Given the description of an element on the screen output the (x, y) to click on. 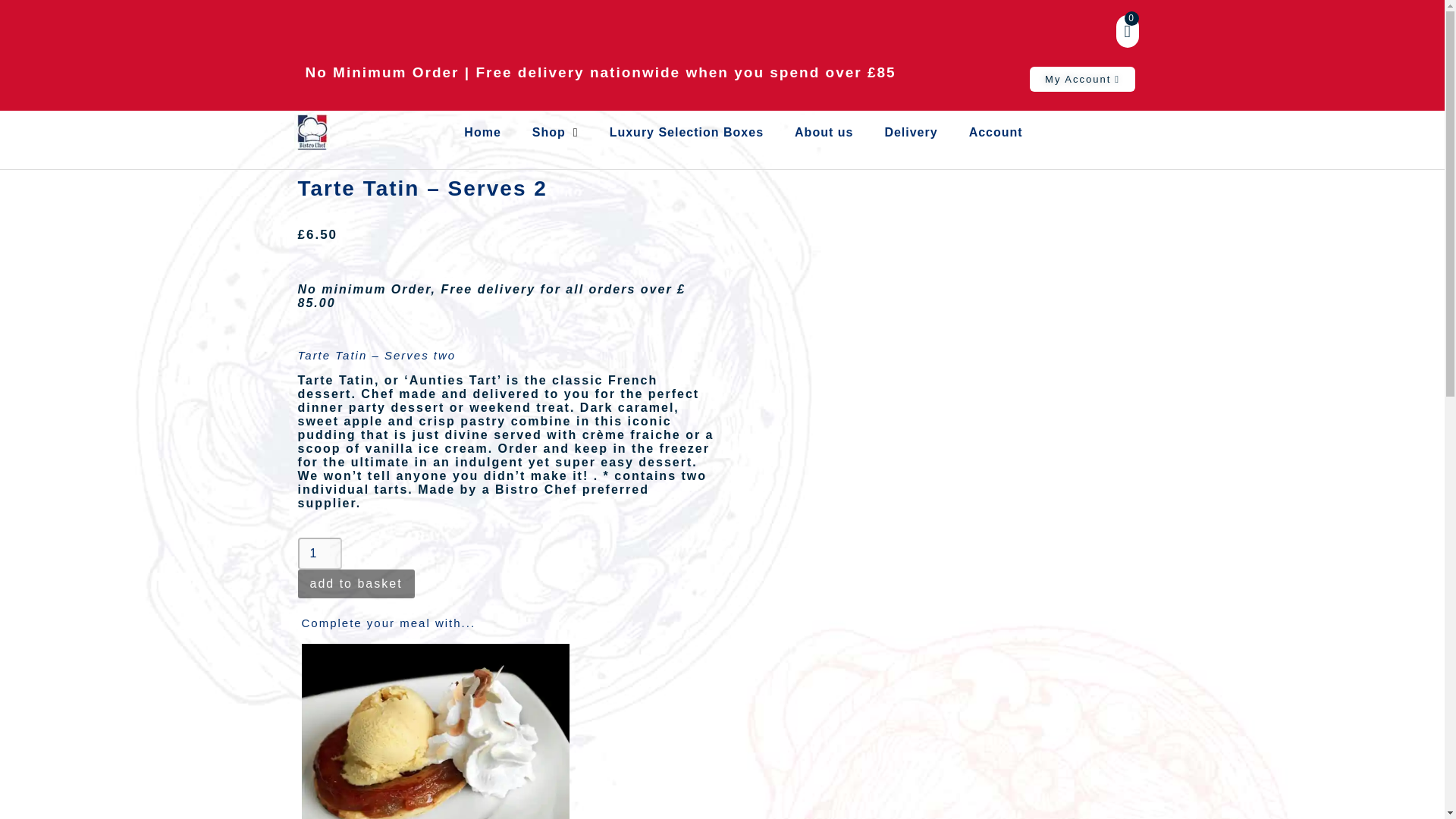
Account (996, 132)
add to basket (355, 583)
Home (482, 132)
Delivery (910, 132)
Shop (555, 132)
Luxury Selection Boxes (686, 132)
My Account (1082, 78)
About us (823, 132)
1 (318, 553)
